Given the description of an element on the screen output the (x, y) to click on. 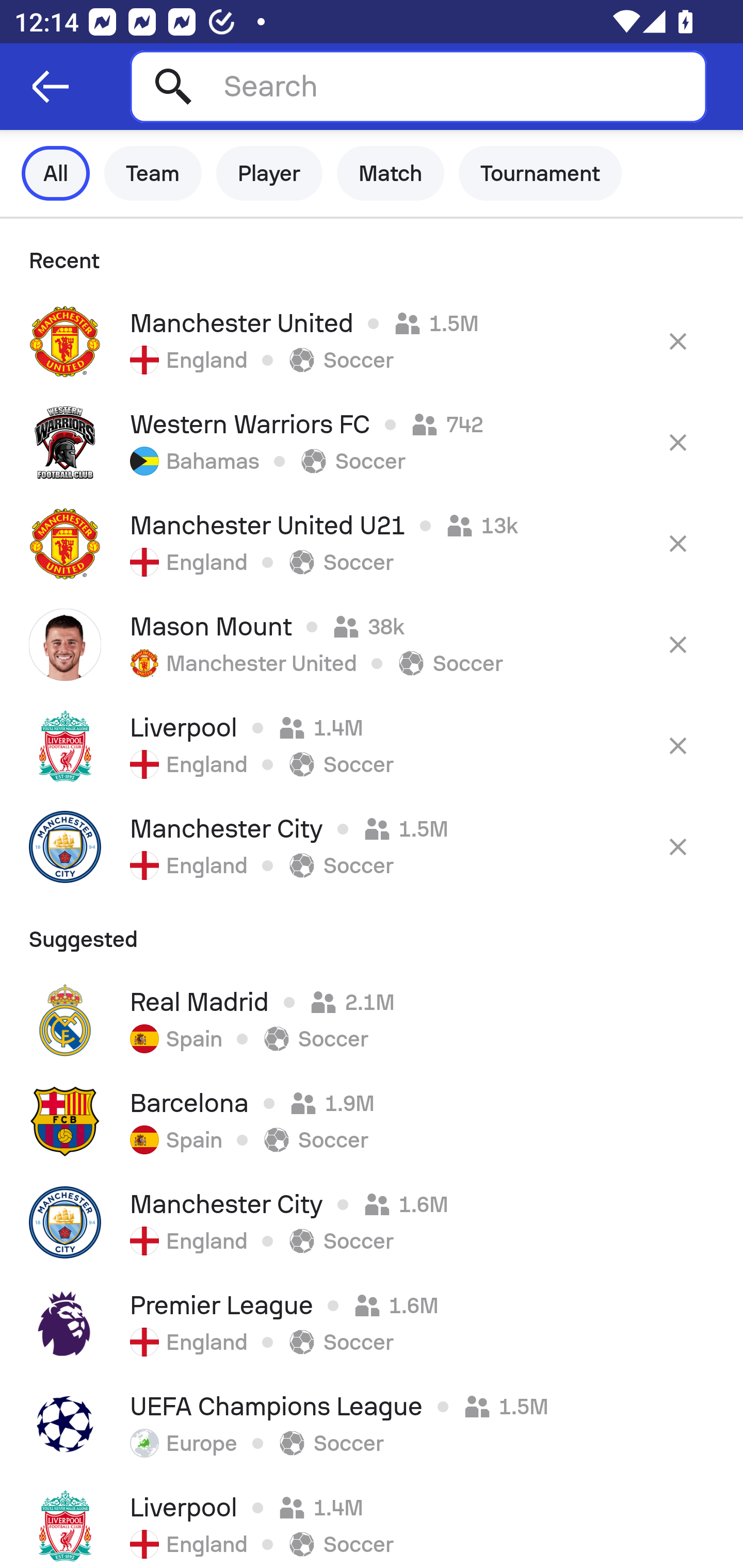
Navigate up (50, 86)
Search (418, 86)
All (55, 172)
Team (152, 172)
Player (268, 172)
Match (390, 172)
Tournament (540, 172)
Recent (371, 254)
Manchester United 1.5M England Soccer (371, 341)
Western Warriors FC 742 Bahamas Soccer (371, 442)
Manchester United U21 13k England Soccer (371, 543)
Mason Mount 38k Manchester United Soccer (371, 644)
Liverpool 1.4M England Soccer (371, 745)
Manchester City 1.5M England Soccer (371, 846)
Suggested (371, 932)
Real Madrid 2.1M Spain Soccer (371, 1019)
Barcelona 1.9M Spain Soccer (371, 1120)
Manchester City 1.6M England Soccer (371, 1222)
Premier League 1.6M England Soccer (371, 1323)
UEFA Champions League 1.5M Europe Soccer (371, 1424)
Liverpool 1.4M England Soccer (371, 1521)
